Given the description of an element on the screen output the (x, y) to click on. 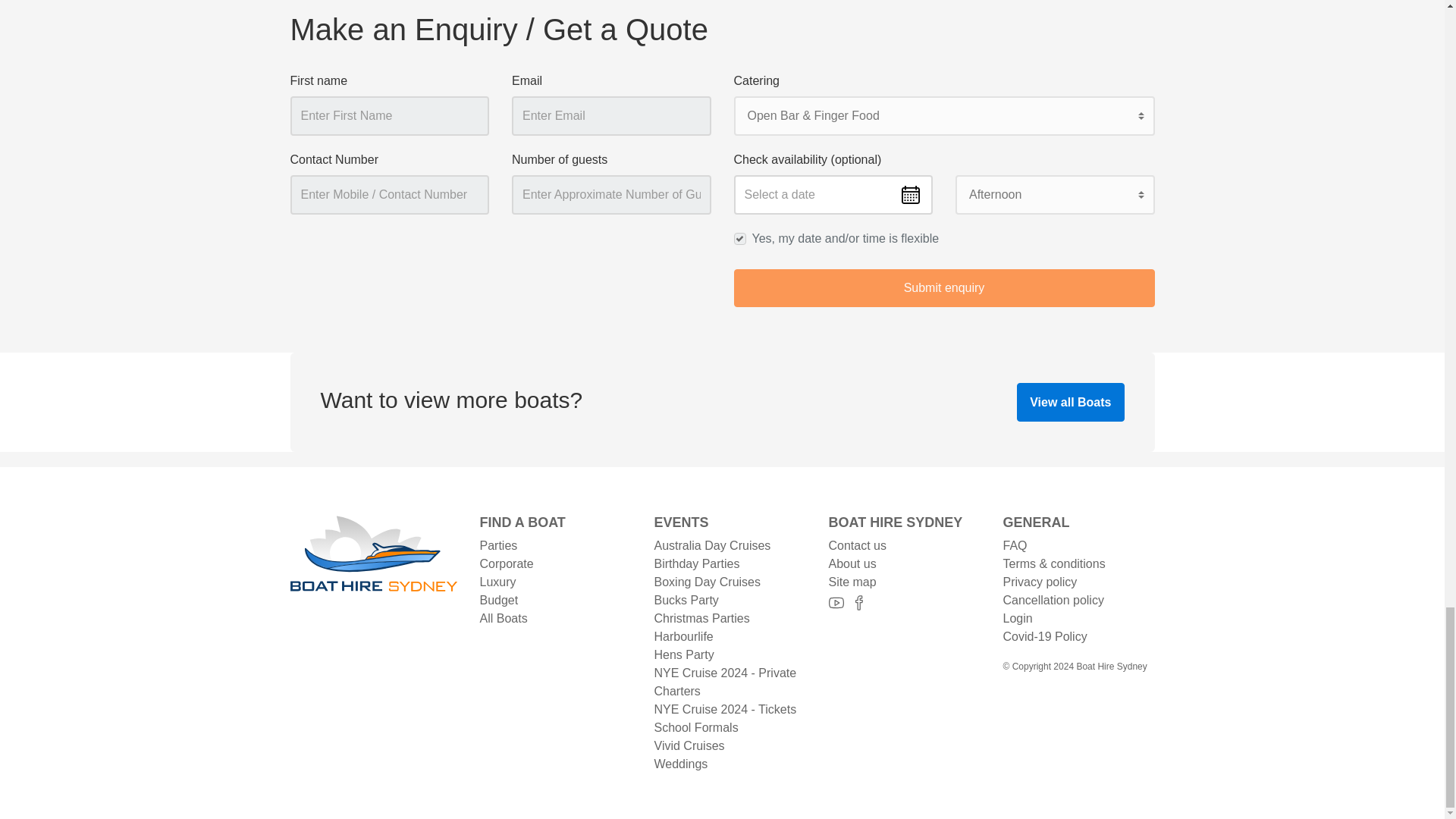
Afternoon (1054, 194)
